Given the description of an element on the screen output the (x, y) to click on. 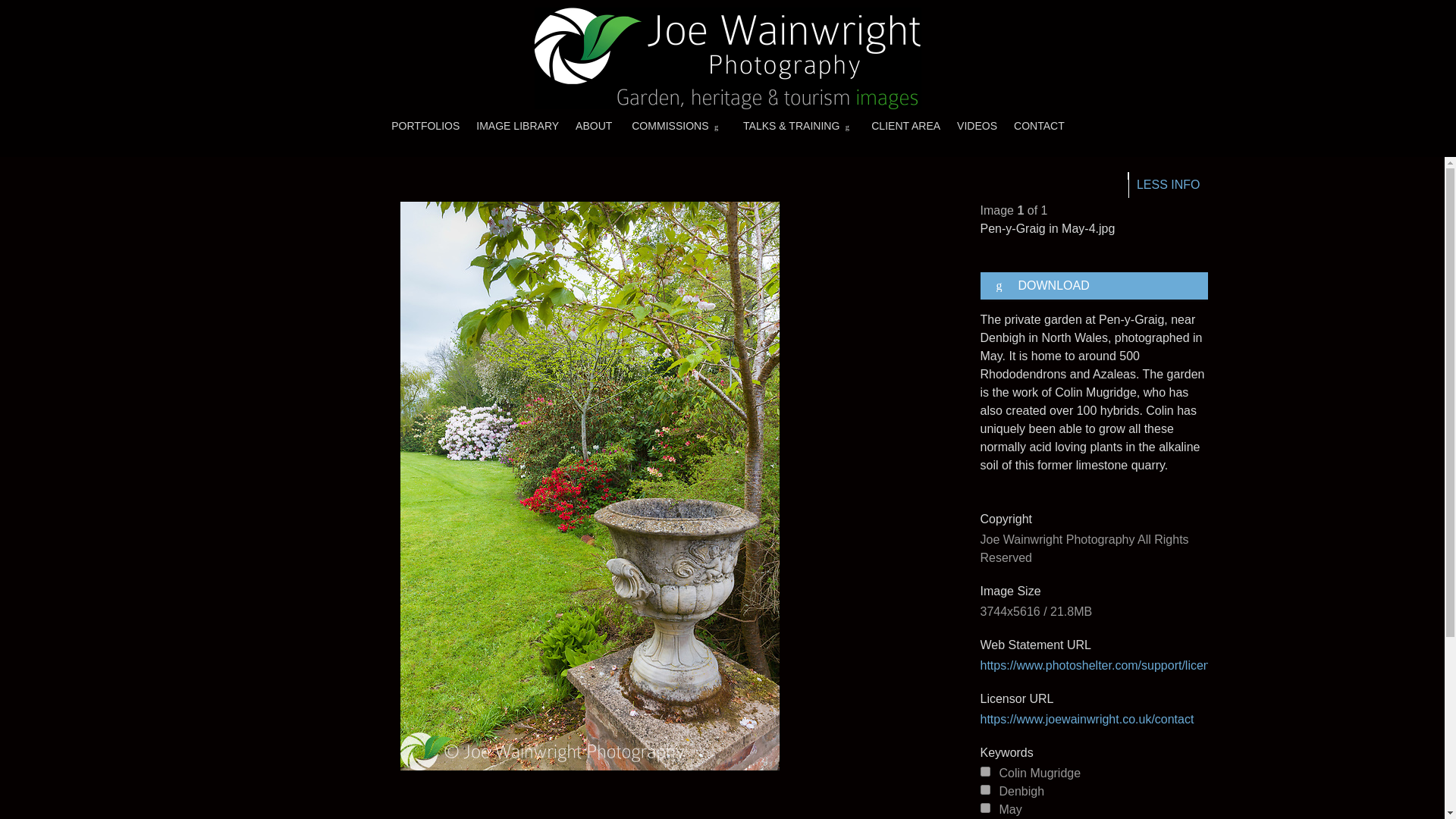
CONTACT (1038, 125)
VIDEOS (976, 125)
IMAGE LIBRARY (517, 125)
ABOUT (593, 125)
DOWNLOAD (1093, 285)
May (984, 808)
PORTFOLIOS (425, 125)
Joe Wainwright Photography (727, 57)
Denbigh (984, 789)
Colin Mugridge (984, 771)
CLIENT AREA (905, 125)
Info (1168, 185)
JOE WAINWRIGHT PHOTOGRAPHY (727, 57)
